Given the description of an element on the screen output the (x, y) to click on. 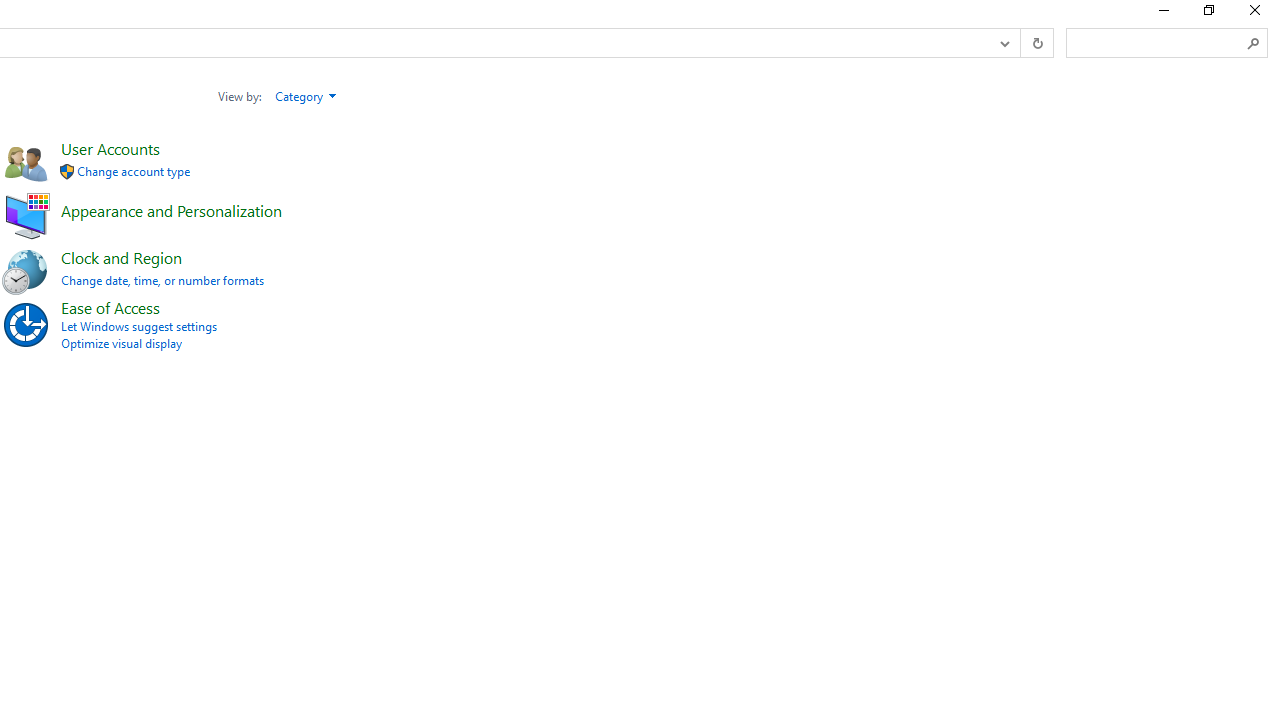
User Accounts (110, 148)
Minimize (1162, 14)
